Given the description of an element on the screen output the (x, y) to click on. 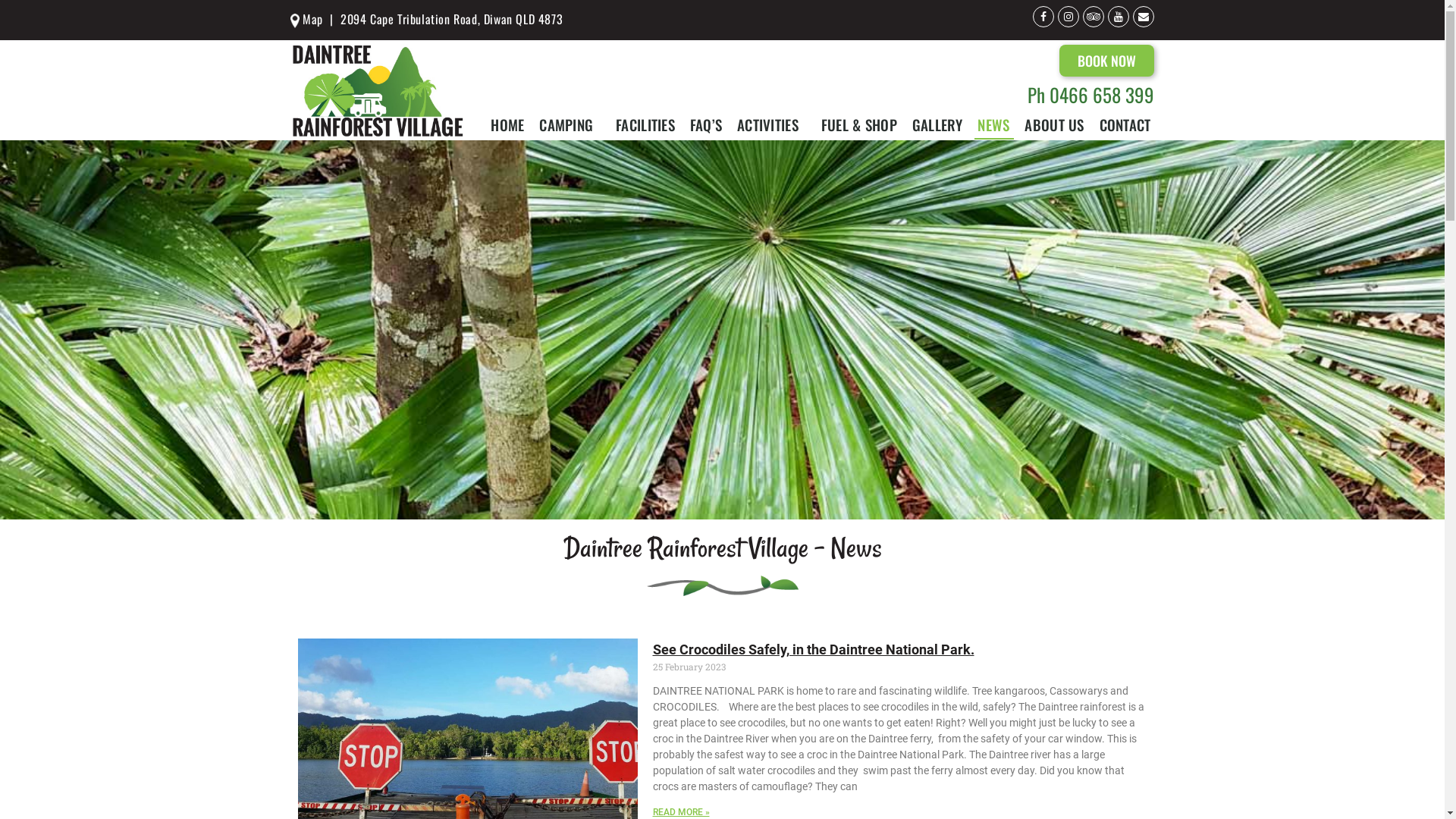
ABOUT US Element type: text (1054, 124)
CAMPING Element type: text (569, 124)
Map Element type: text (305, 18)
NEWS Element type: text (993, 124)
GALLERY Element type: text (937, 124)
See Crocodiles Safely, in the Daintree National Park. Element type: text (812, 649)
FACILITIES Element type: text (644, 124)
BOOK NOW Element type: text (1106, 60)
ACTIVITIES Element type: text (771, 124)
Ph 0466 658 399 Element type: text (1090, 94)
CONTACT Element type: text (1124, 124)
FUEL & SHOP Element type: text (858, 124)
HOME Element type: text (506, 124)
